Given the description of an element on the screen output the (x, y) to click on. 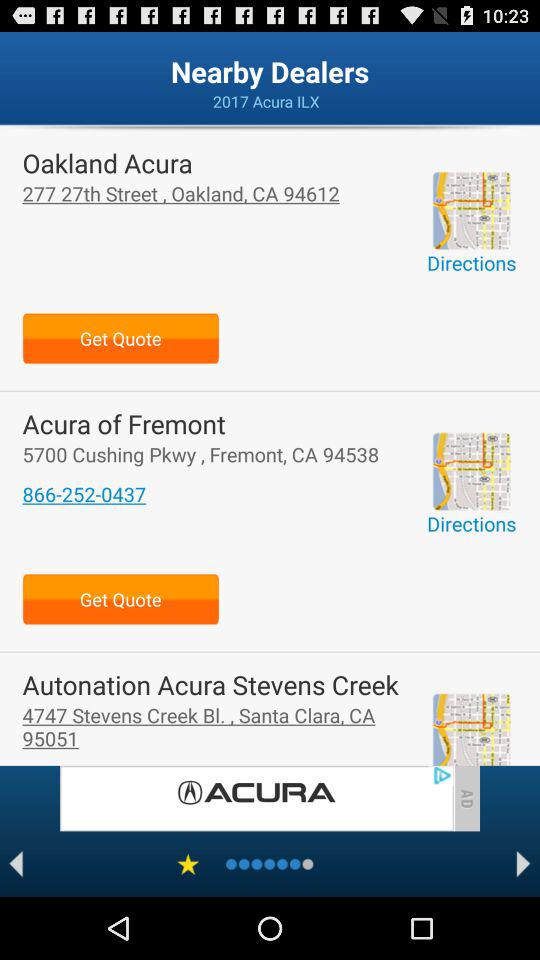
go next (523, 864)
